Given the description of an element on the screen output the (x, y) to click on. 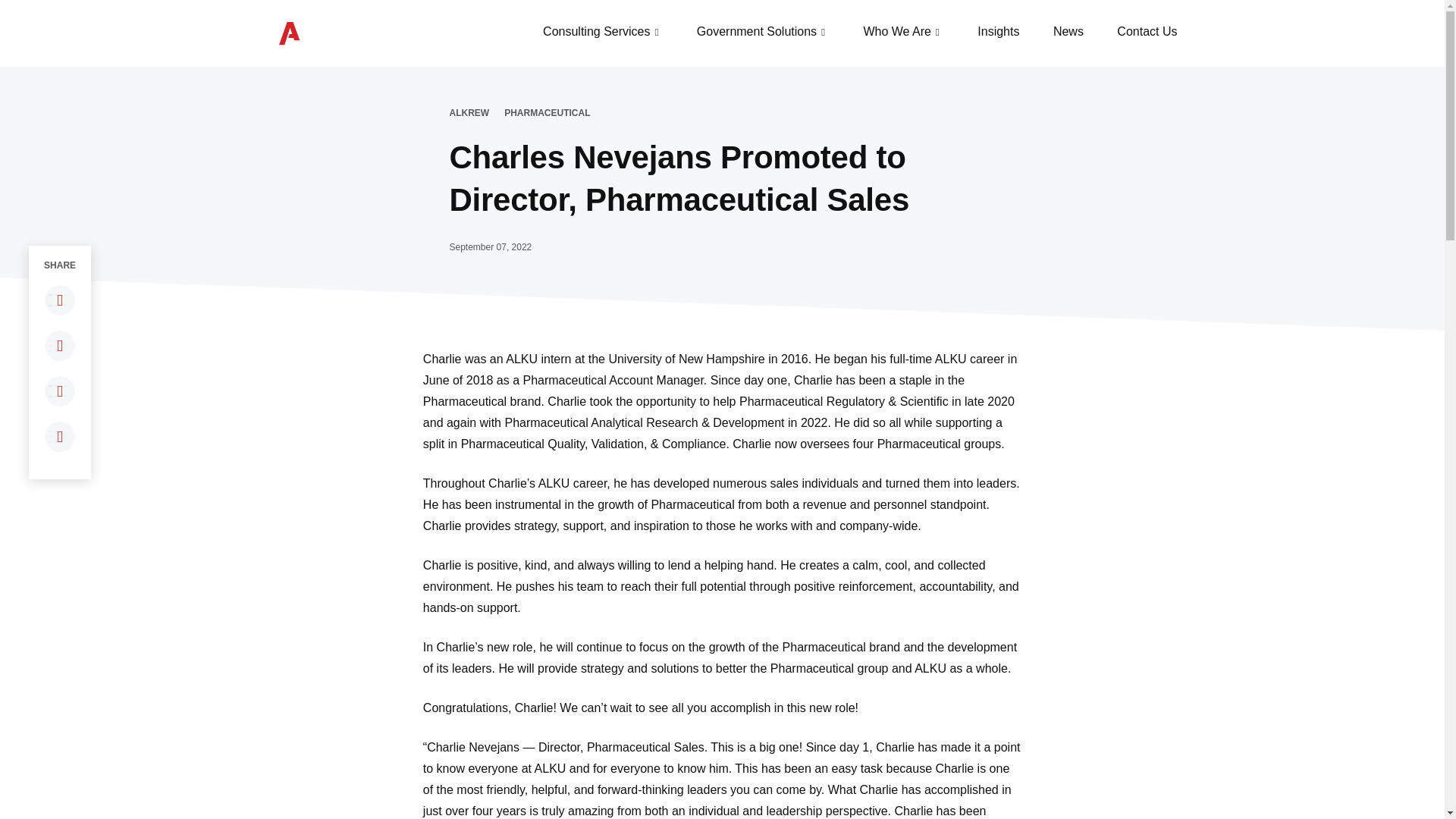
open Consulting Services menu (655, 32)
open Who We Are menu (937, 32)
Government Solutions (756, 31)
Consulting Services (596, 31)
Who We Are (897, 31)
open Government Solutions menu (822, 32)
